Given the description of an element on the screen output the (x, y) to click on. 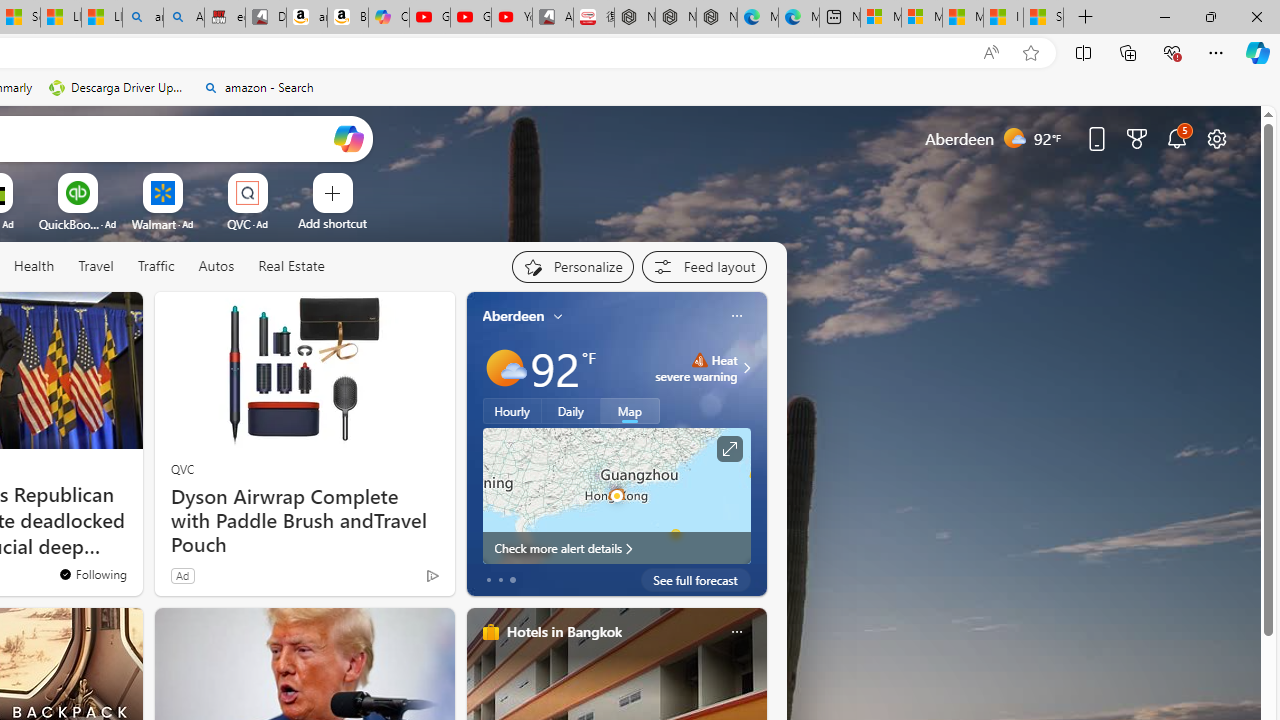
Daily (571, 411)
Mostly sunny (504, 368)
Hotels in Bangkok (563, 631)
QVC (182, 468)
Mostly sunny (504, 368)
hotels-header-icon (490, 632)
Nordace Comino Totepack (634, 17)
Class: weather-arrow-glyph (746, 367)
